Given the description of an element on the screen output the (x, y) to click on. 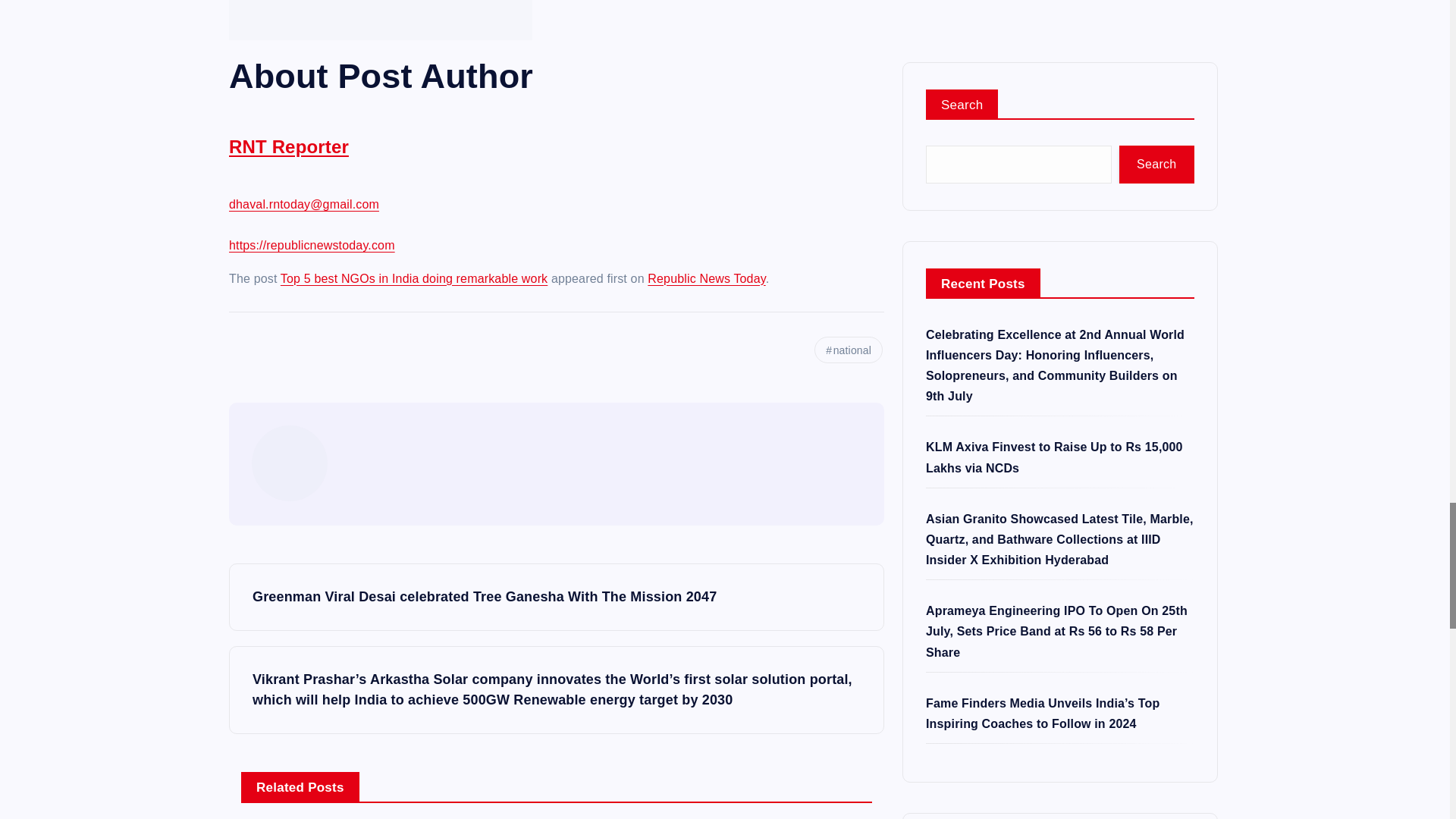
Top 5 best NGOs in India doing remarkable work (414, 278)
RNT Reporter (288, 157)
Republic News Today (706, 278)
national (847, 349)
